Given the description of an element on the screen output the (x, y) to click on. 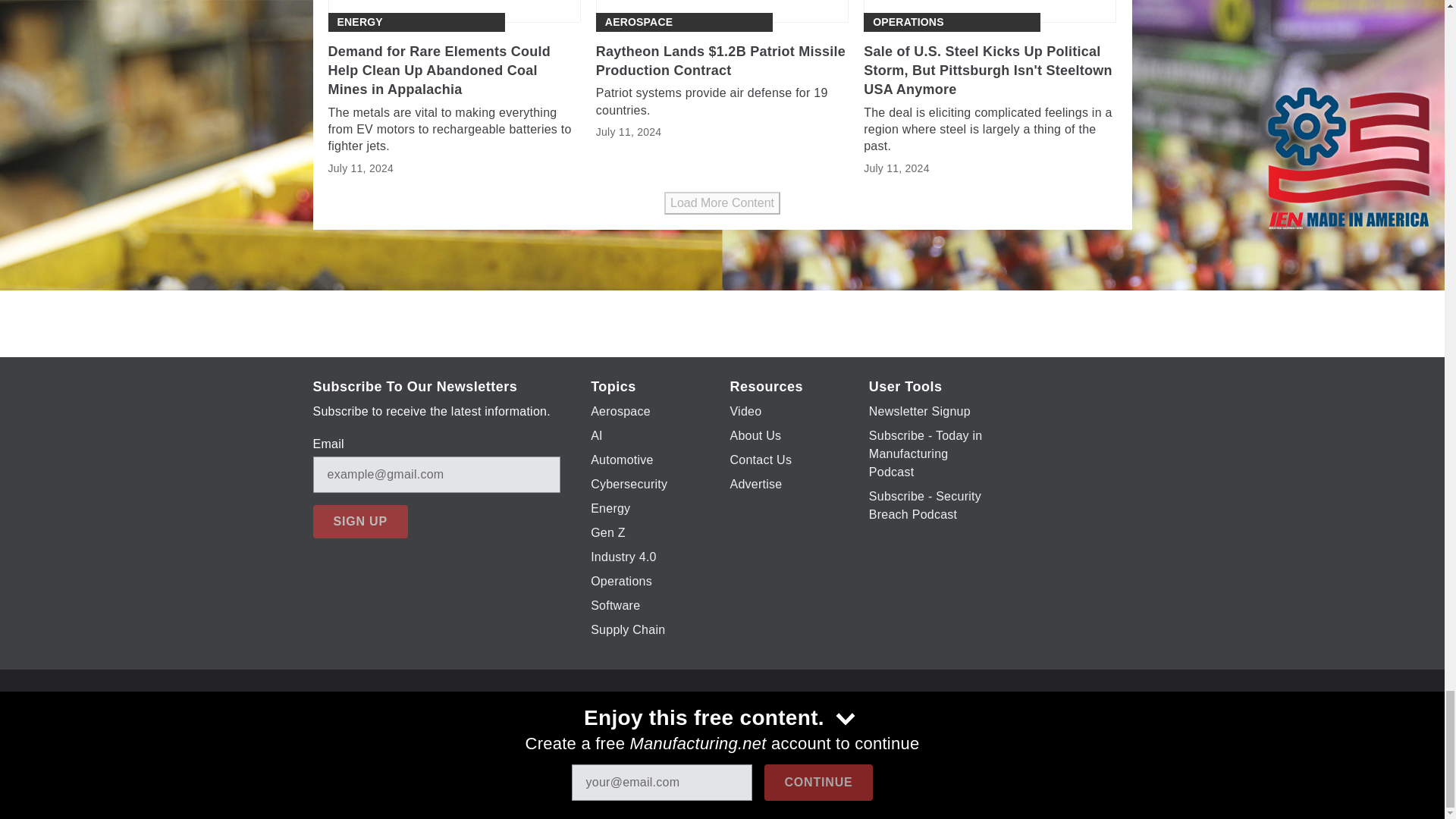
Twitter X icon (696, 727)
Facebook icon (656, 727)
LinkedIn icon (775, 727)
YouTube icon (735, 727)
